Given the description of an element on the screen output the (x, y) to click on. 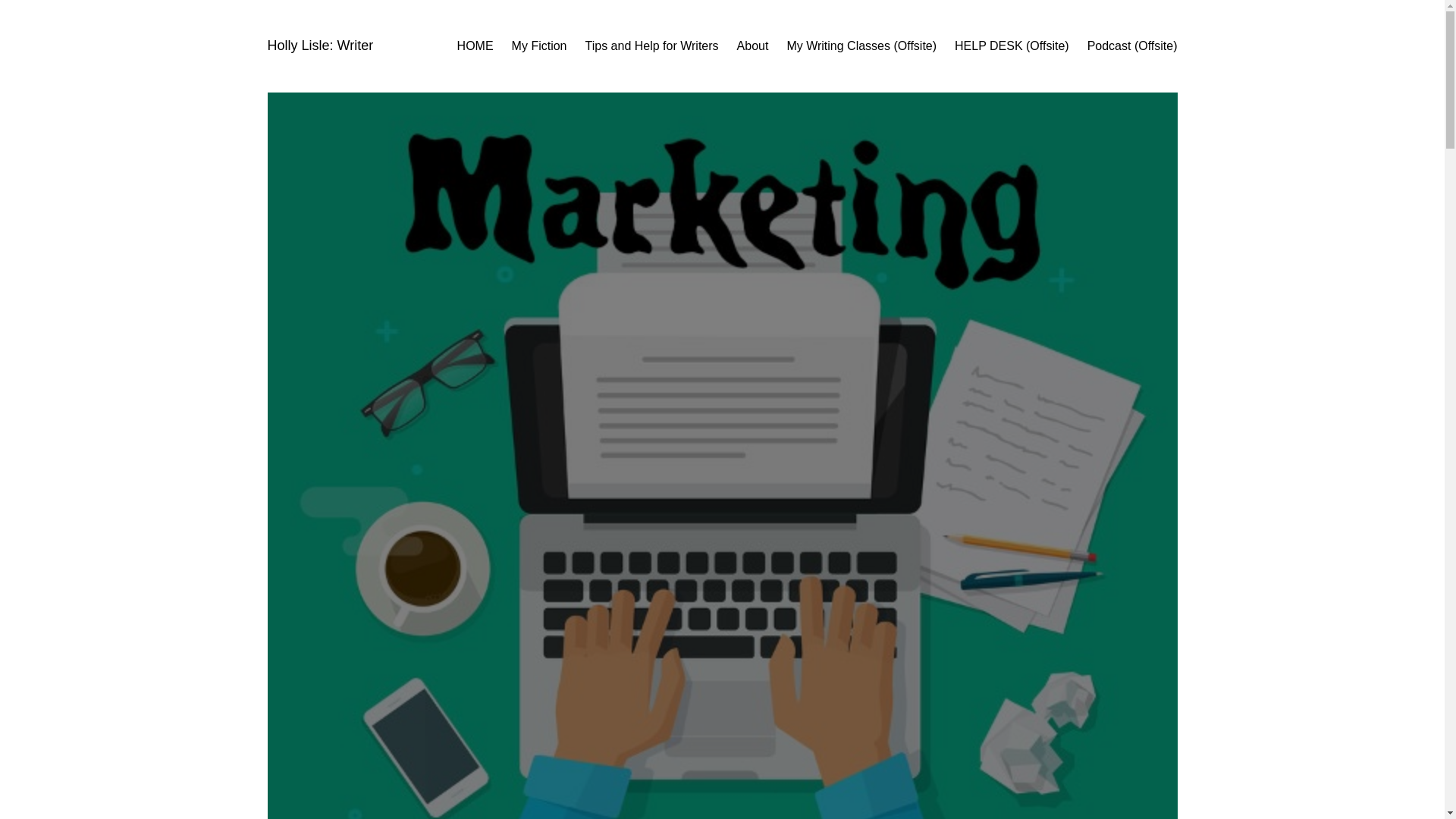
HOME (475, 46)
About (752, 46)
My Fiction (539, 46)
Tips and Help for Writers (652, 46)
Holly Lisle: Writer (319, 45)
